Given the description of an element on the screen output the (x, y) to click on. 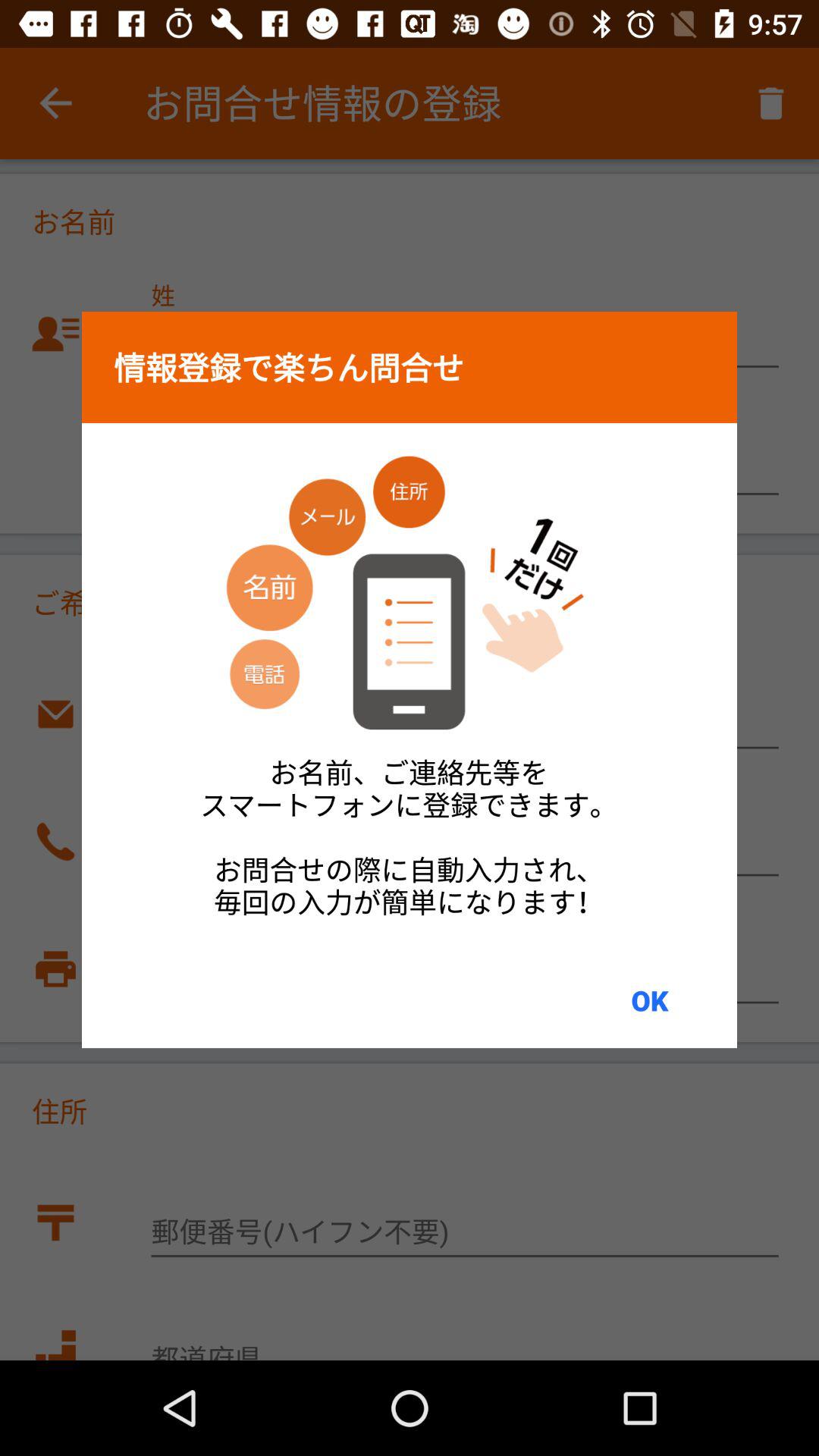
select ok at the bottom right corner (649, 1000)
